Given the description of an element on the screen output the (x, y) to click on. 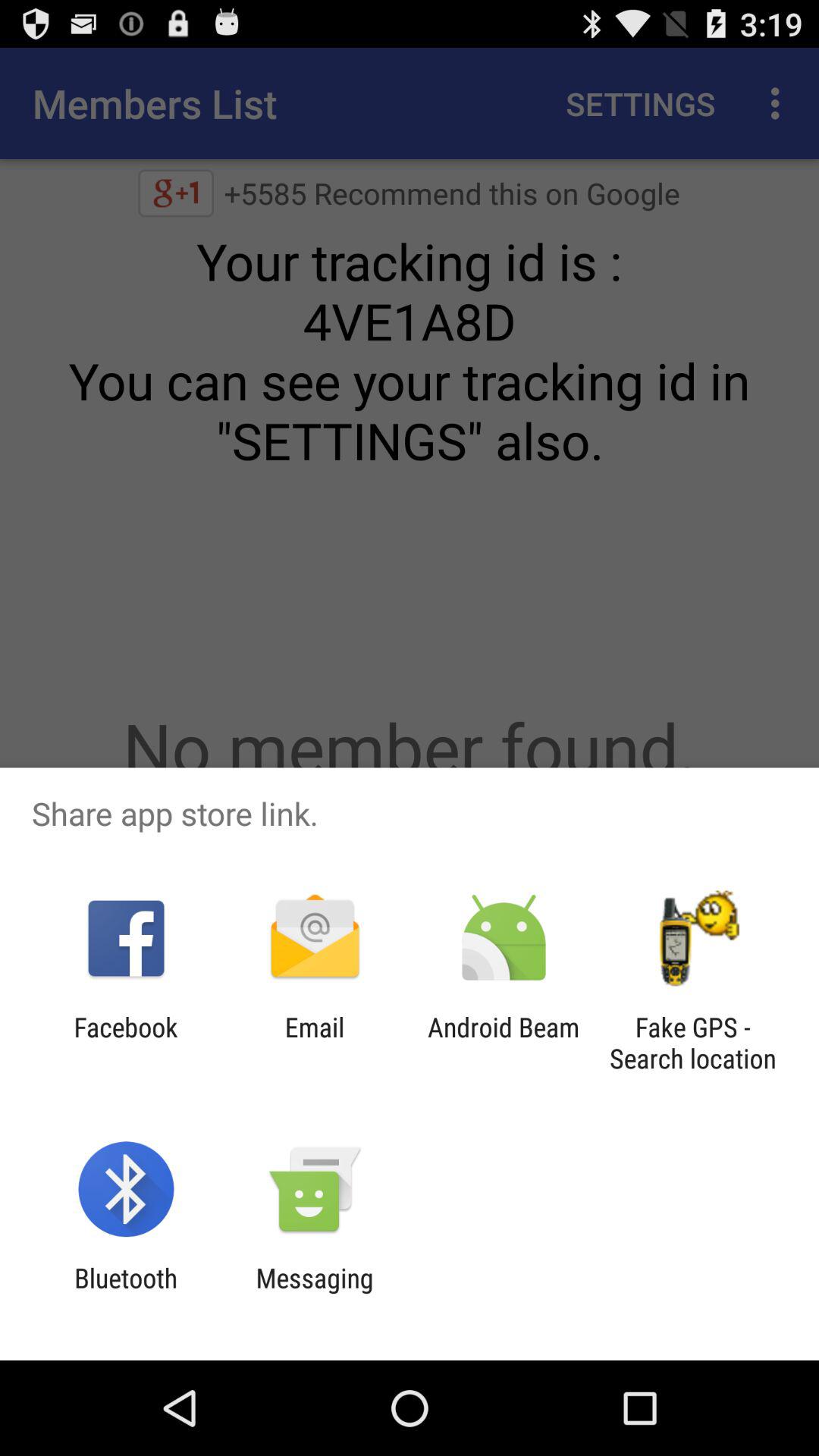
select the icon to the left of the email app (125, 1042)
